Given the description of an element on the screen output the (x, y) to click on. 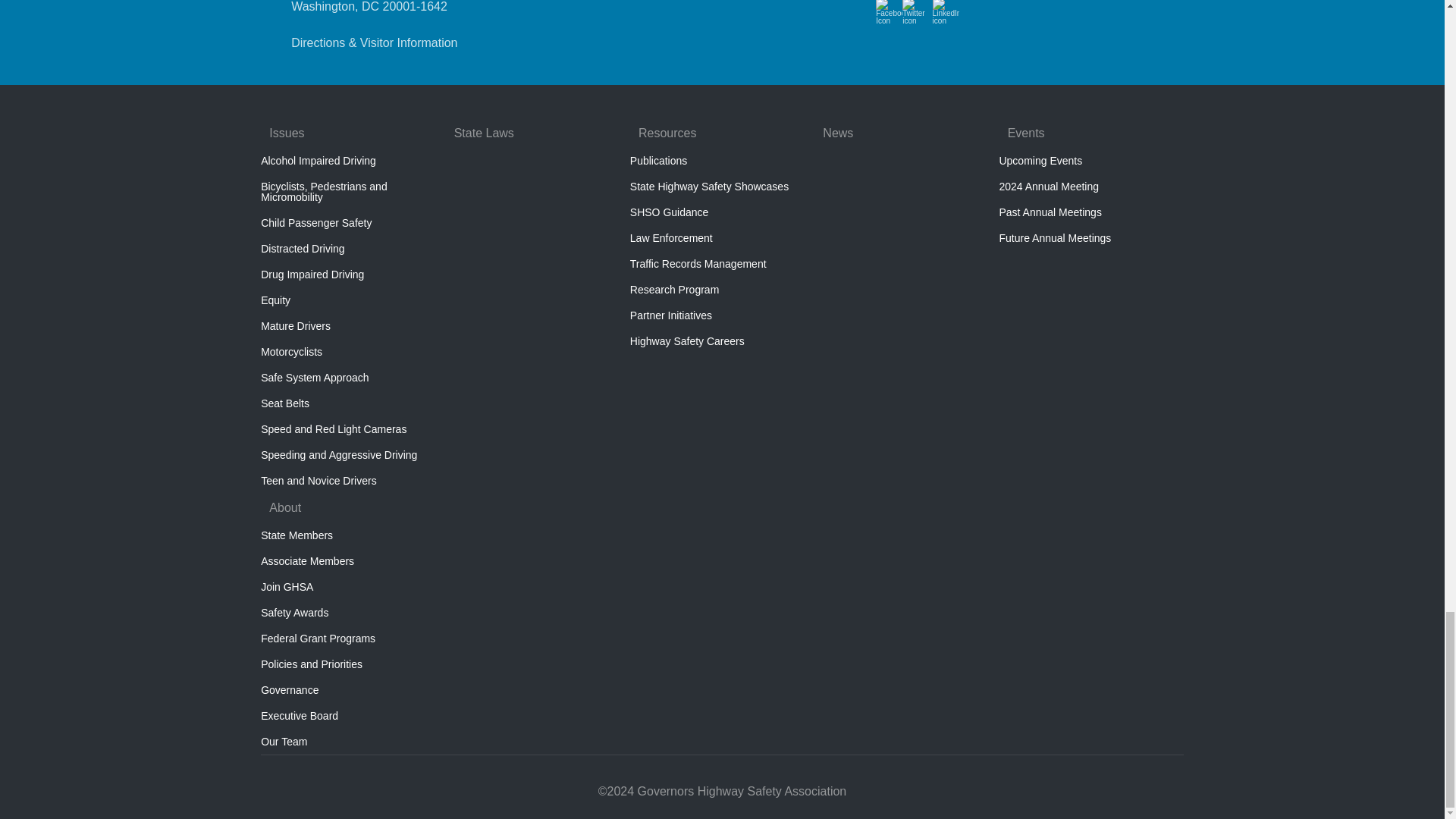
Like Us on Facebook! (889, 19)
Connect With Us on LinkedIn! (946, 19)
Follow Us on Twitter! (915, 19)
